Given the description of an element on the screen output the (x, y) to click on. 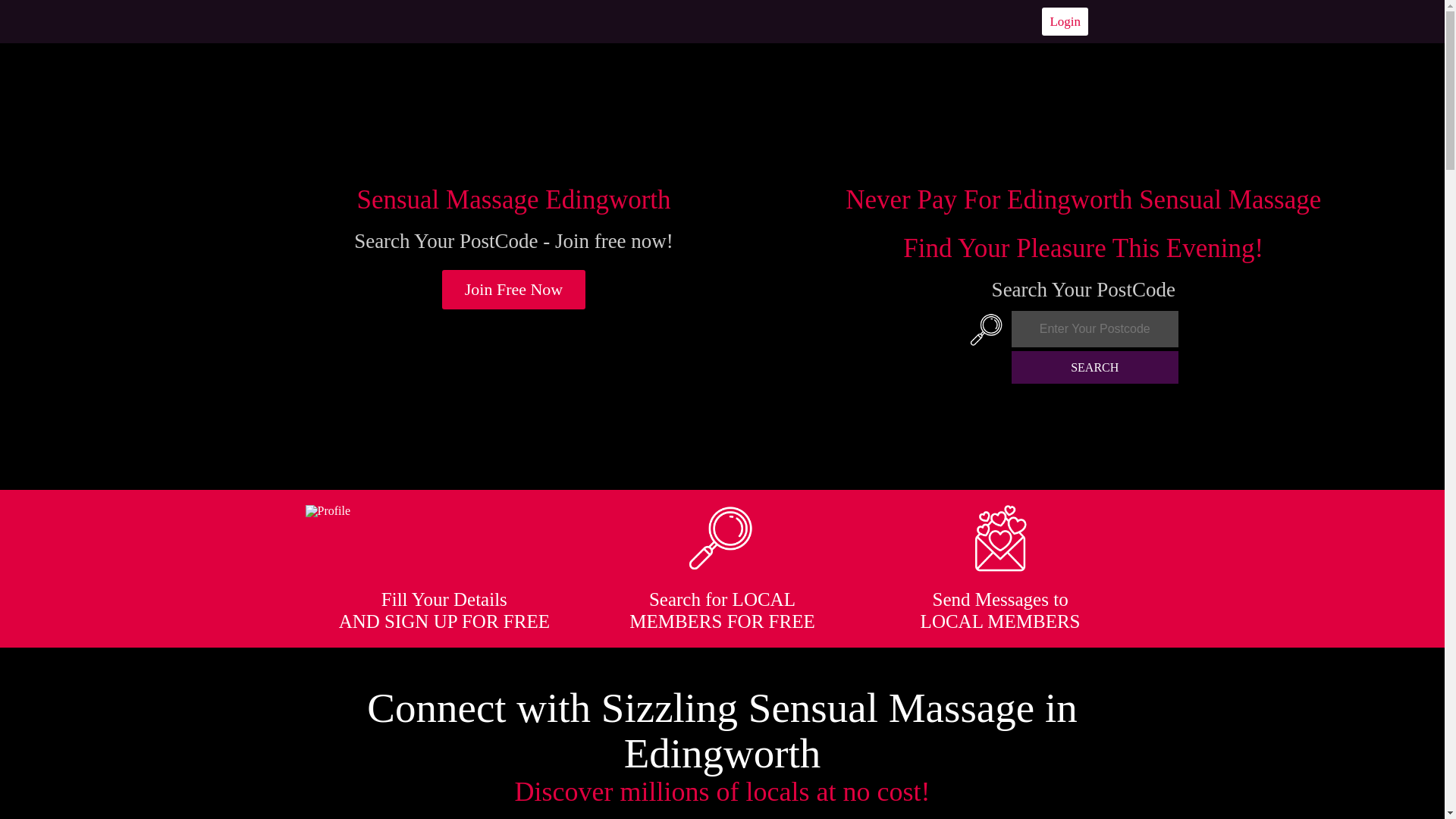
Login (1064, 21)
Join Free Now (514, 289)
SEARCH (1094, 367)
Login (1064, 21)
Join (514, 289)
